Given the description of an element on the screen output the (x, y) to click on. 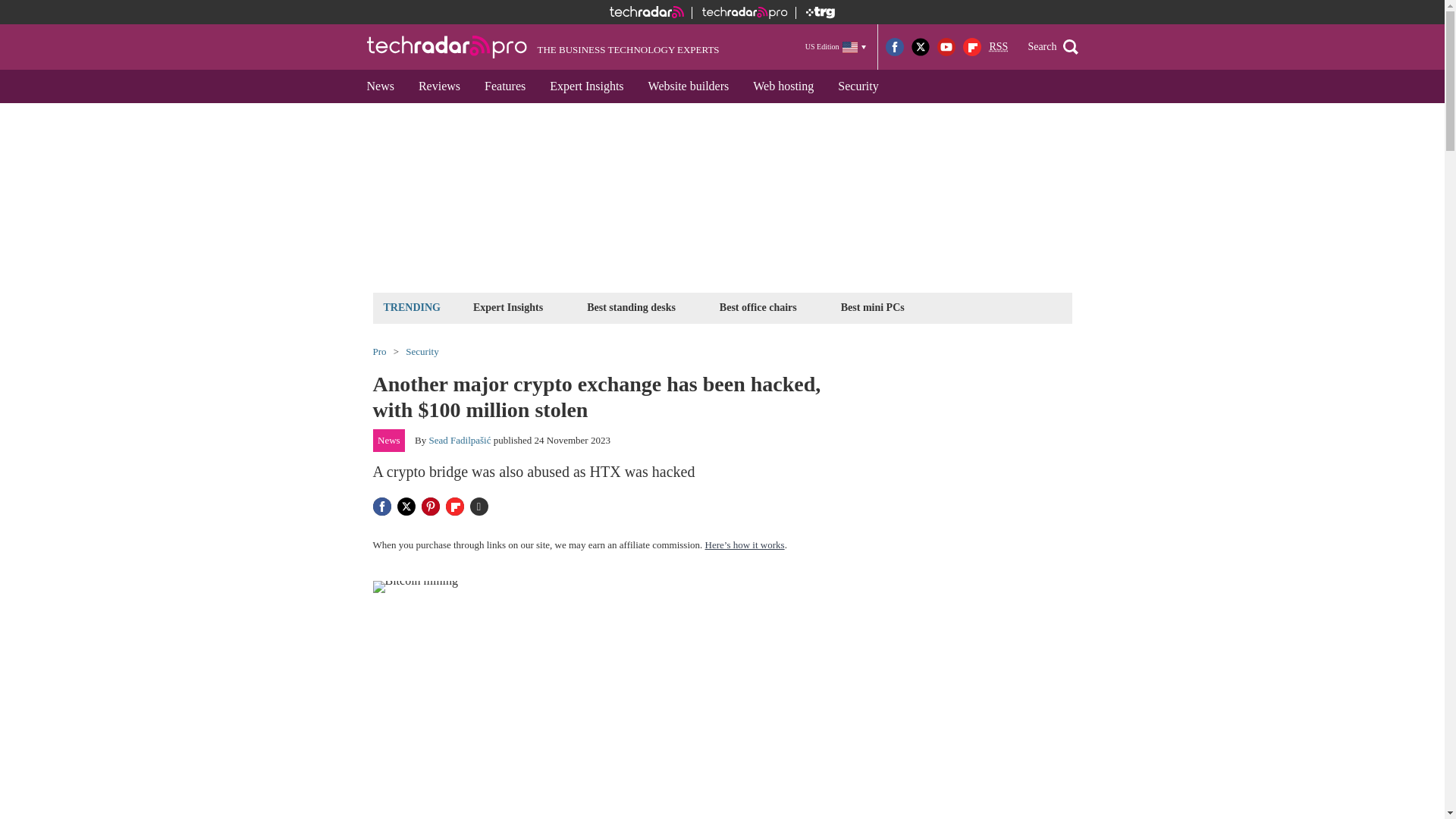
Features (504, 86)
Website builders (688, 86)
RSS (997, 46)
US Edition (836, 46)
Expert Insights (585, 86)
Best office chairs (758, 307)
Really Simple Syndication (997, 46)
Web hosting (783, 86)
Security (857, 86)
THE BUSINESS TECHNOLOGY EXPERTS (542, 46)
Expert Insights (507, 307)
Best standing desks (630, 307)
Reviews (438, 86)
News (380, 86)
